Given the description of an element on the screen output the (x, y) to click on. 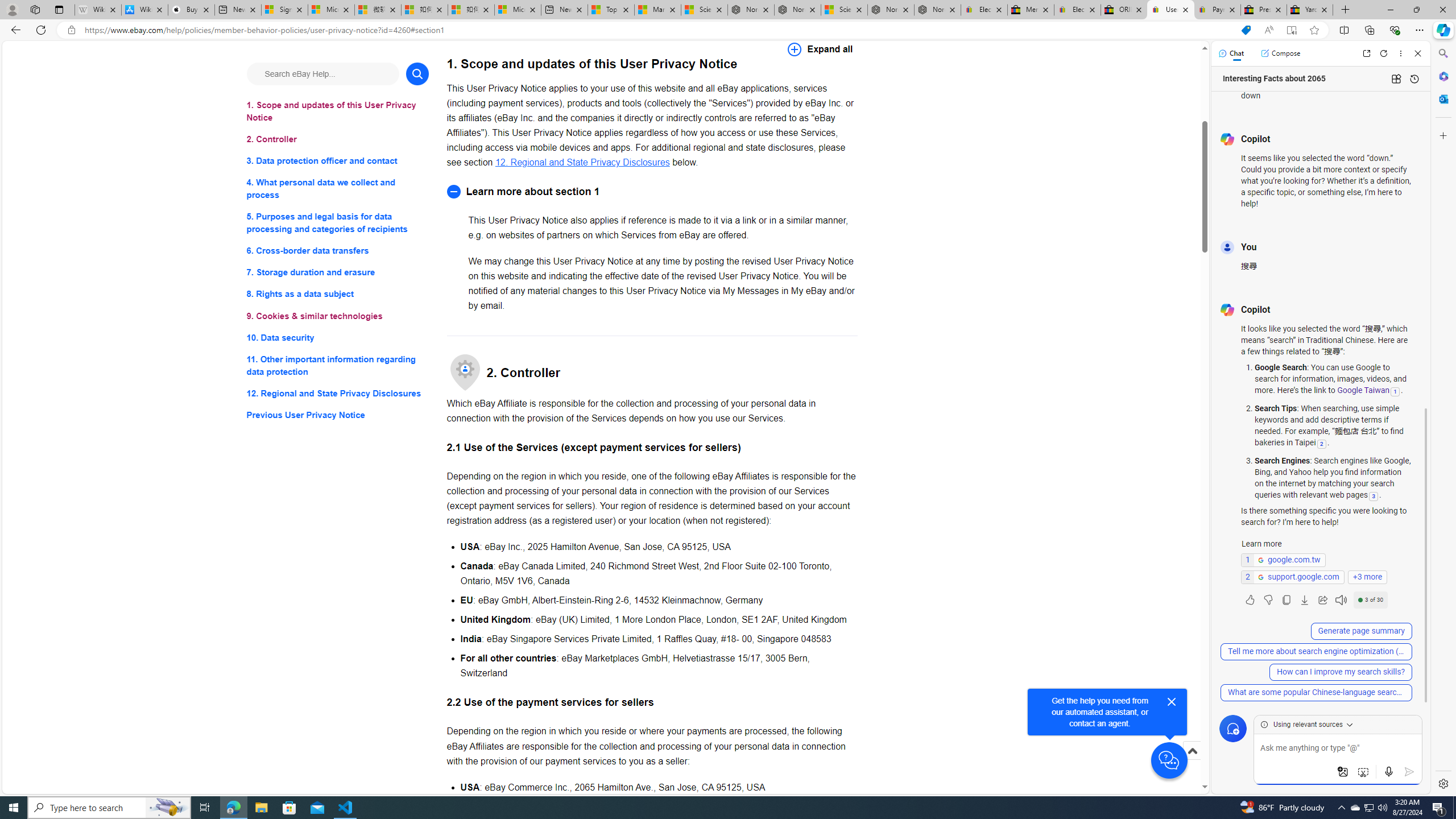
Chat (1231, 52)
9. Cookies & similar technologies (337, 315)
4. What personal data we collect and process (337, 189)
2. Controller (337, 138)
Payments Terms of Use | eBay.com (1216, 9)
Scroll to top (1191, 762)
1. Scope and updates of this User Privacy Notice (337, 111)
